Given the description of an element on the screen output the (x, y) to click on. 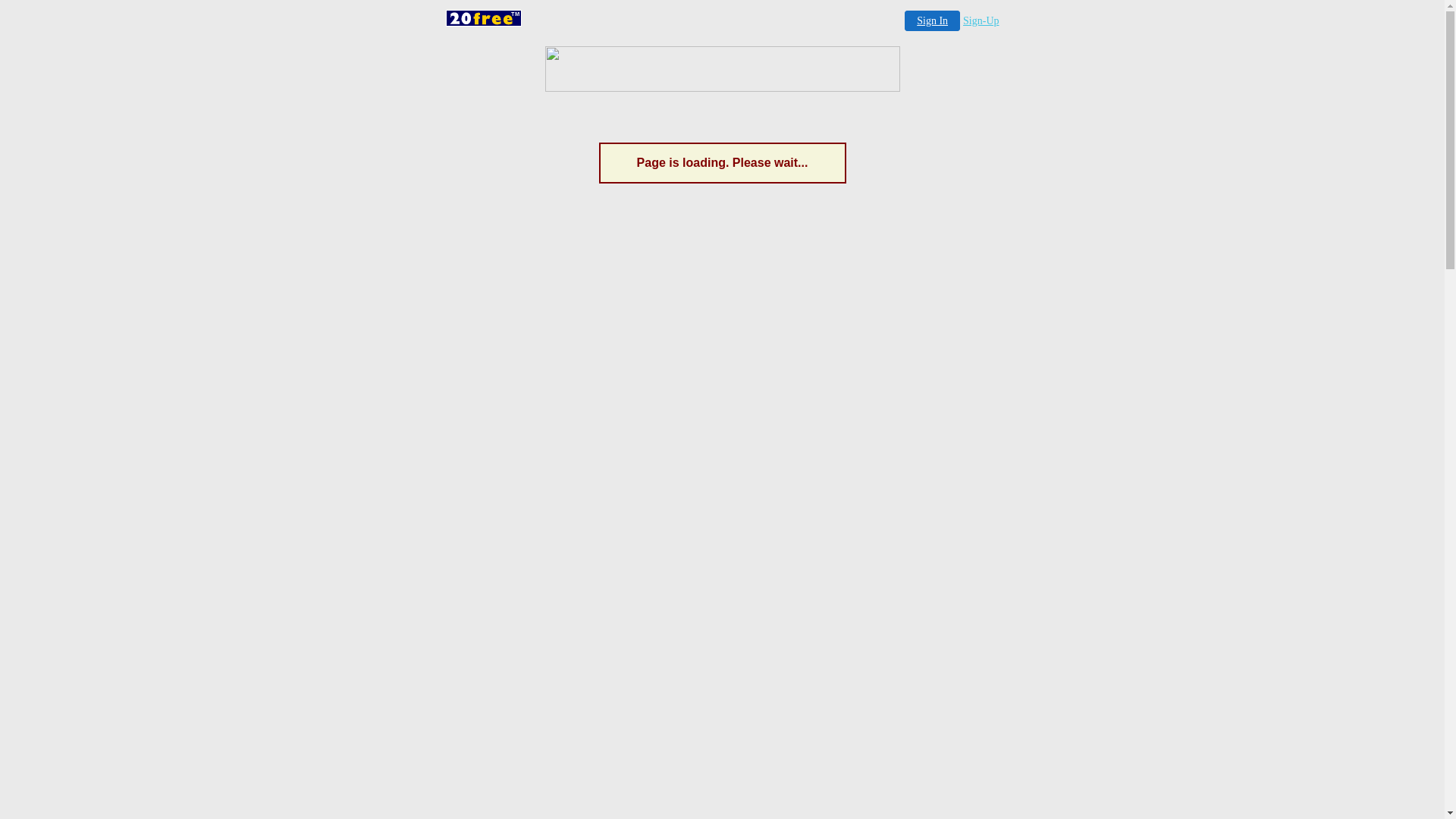
Sign In Element type: text (932, 20)
Sign-Up Element type: text (980, 20)
